Given the description of an element on the screen output the (x, y) to click on. 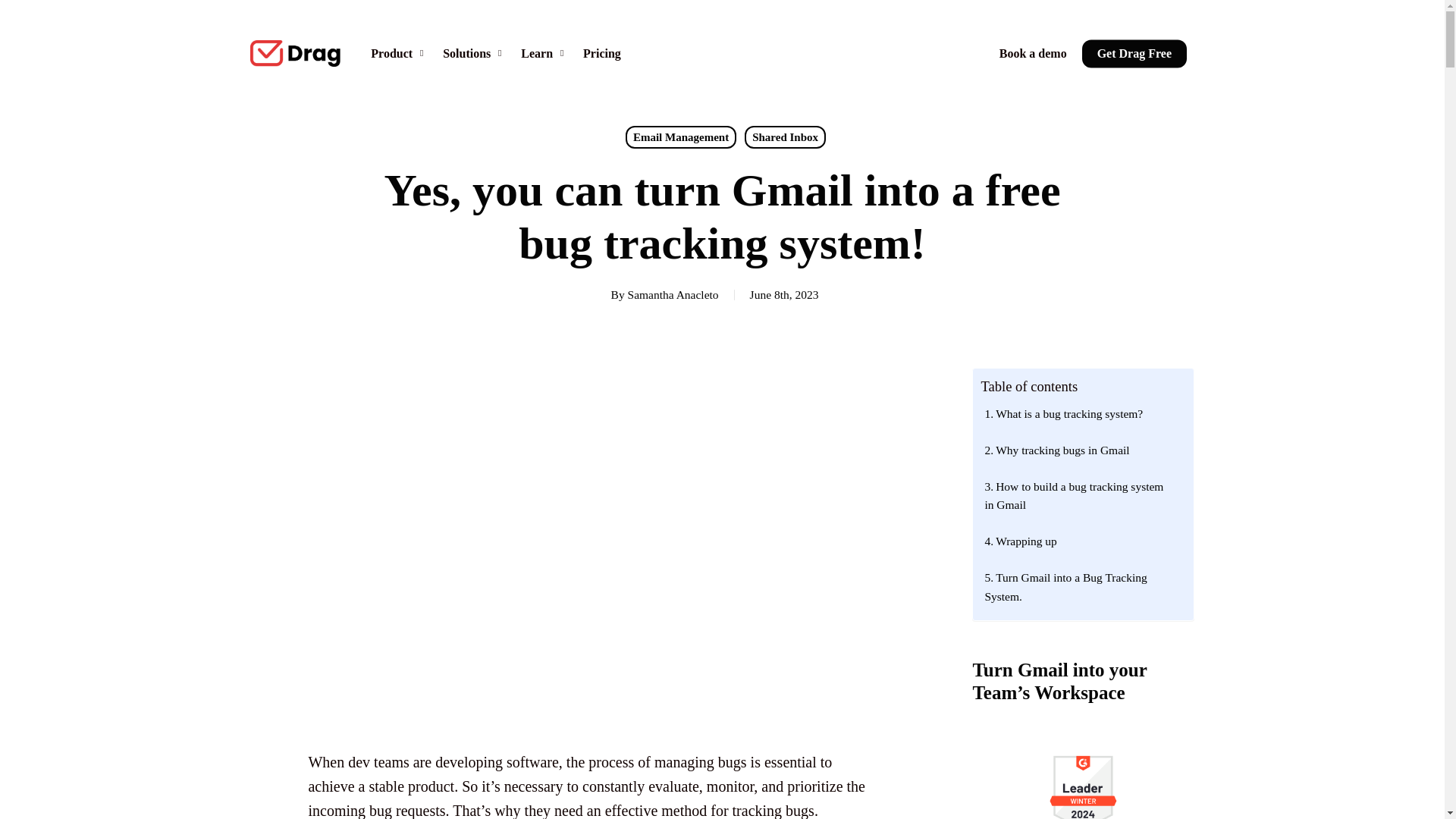
Why tracking bugs in Gmail (1078, 449)
Solutions (474, 52)
What is a bug tracking system? (1078, 412)
Product (398, 52)
Posts by Samantha Anacleto (673, 294)
How to build a bug tracking system in Gmail (1078, 494)
Turn Gmail into a Bug Tracking System. (1078, 585)
Wrapping up (1078, 539)
